Given the description of an element on the screen output the (x, y) to click on. 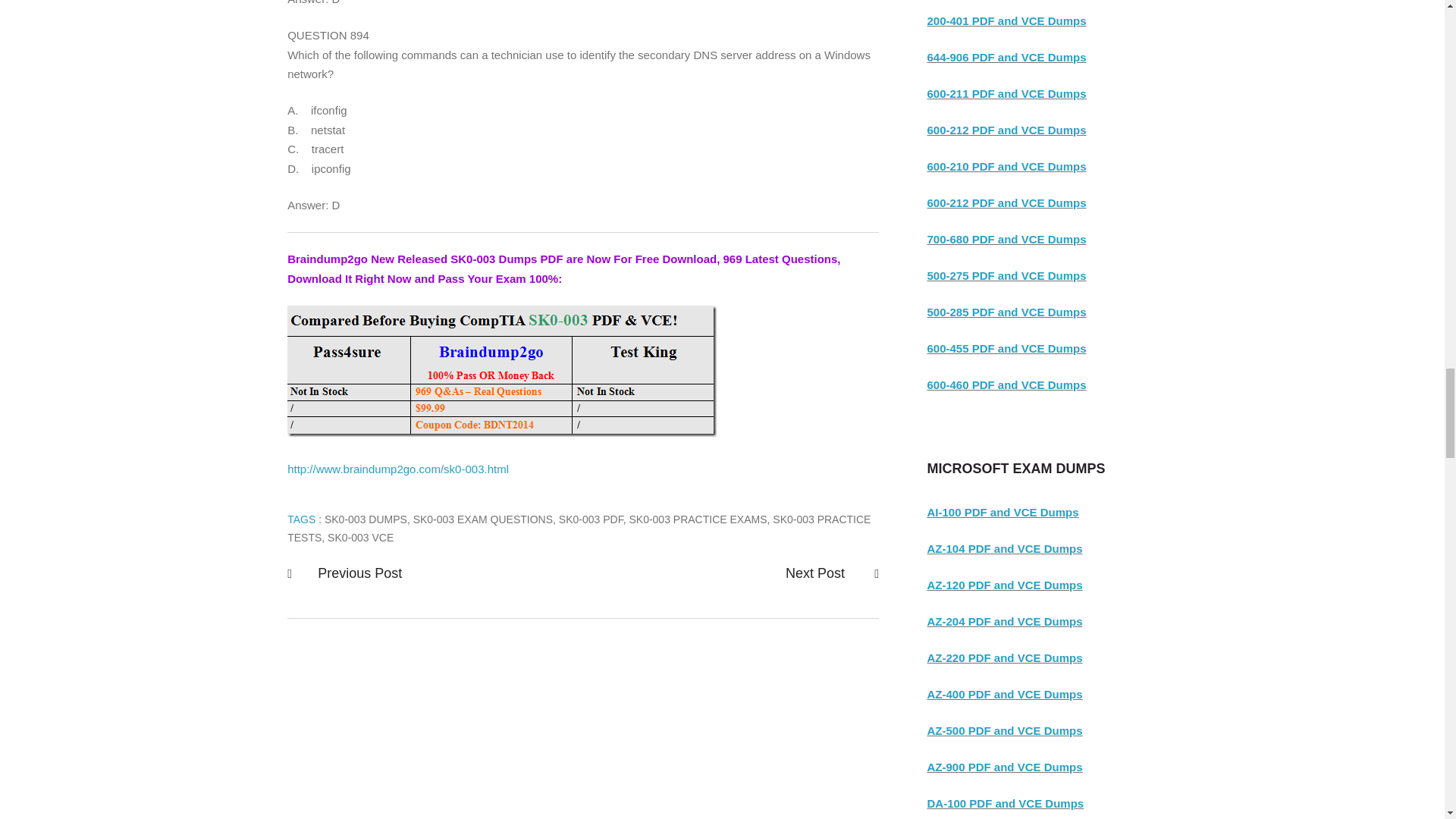
Previous Post (359, 573)
SK0-003 DUMPS (365, 519)
SK0-003 PRACTICE EXAMS (697, 519)
Next Post  (817, 573)
SK0-003 PRACTICE TESTS (578, 528)
SK0-003 EXAM QUESTIONS (483, 519)
SK0-003 PDF (591, 519)
SK0-003 VCE (360, 537)
